Given the description of an element on the screen output the (x, y) to click on. 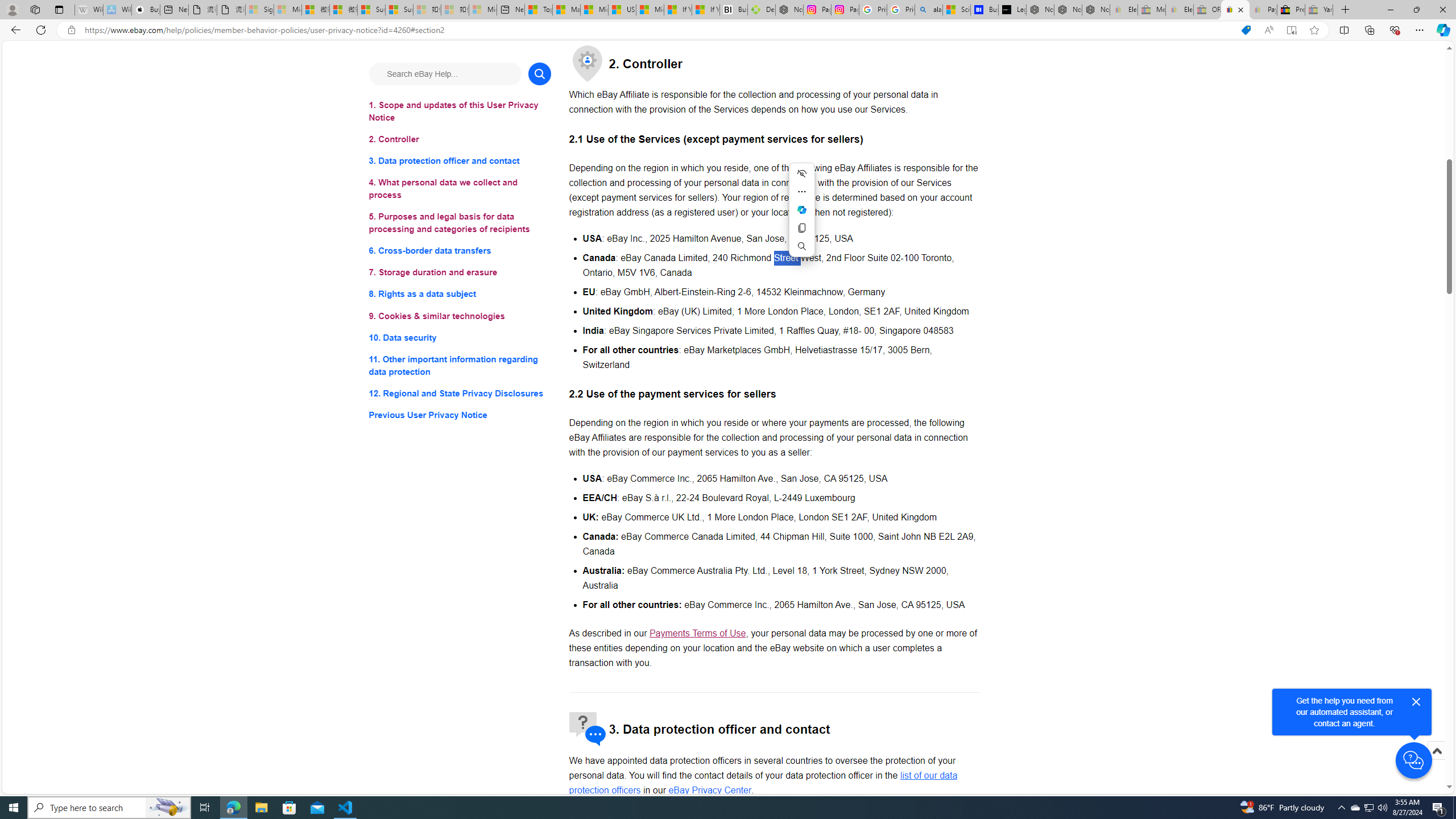
11. Other important information regarding data protection (459, 365)
2. Controller (459, 138)
